Given the description of an element on the screen output the (x, y) to click on. 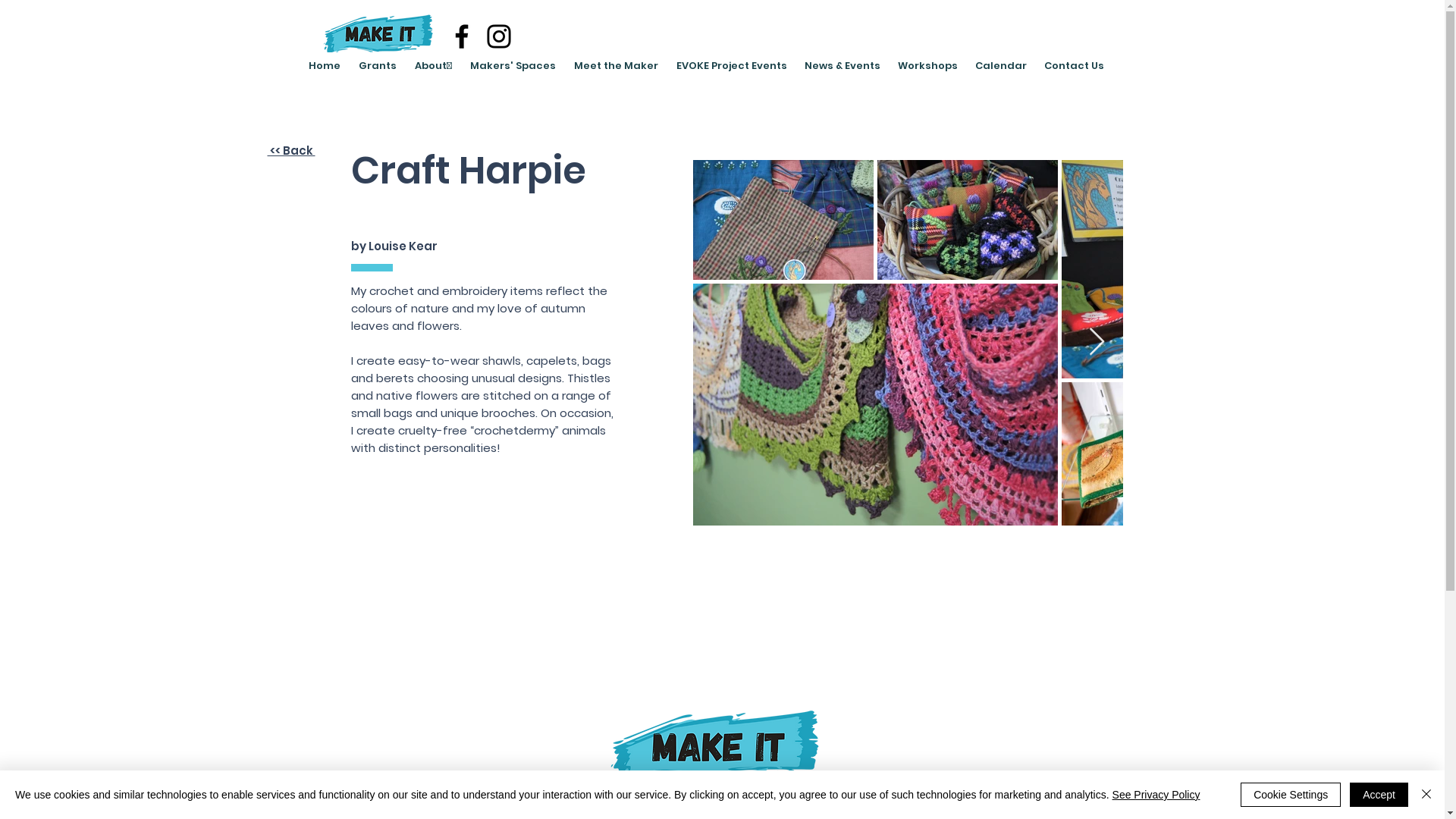
 << Back  Element type: text (290, 150)
EVOKE Project Events Element type: text (731, 65)
Meet the Maker Element type: text (615, 65)
Calendar Element type: text (1000, 65)
Home Element type: text (323, 65)
Grants Element type: text (376, 65)
See Privacy Policy Element type: text (1156, 794)
Workshops Element type: text (927, 65)
Cookie Settings Element type: text (1290, 794)
Contact Us Element type: text (1074, 65)
News & Events Element type: text (842, 65)
Makers' Spaces Element type: text (512, 65)
Accept Element type: text (1378, 794)
